Given the description of an element on the screen output the (x, y) to click on. 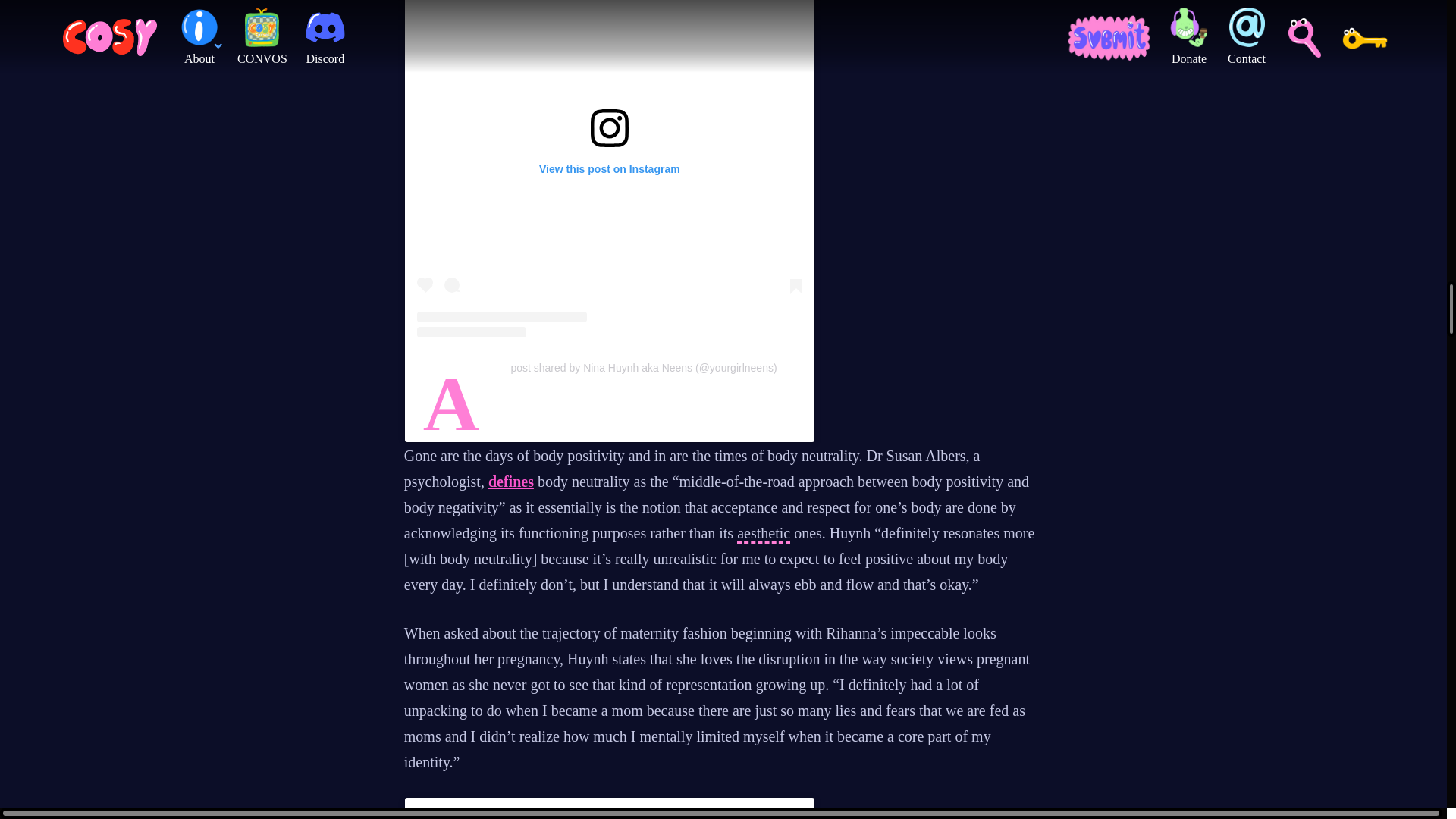
View this post on Instagram (609, 814)
View this post on Instagram (609, 168)
defines (510, 481)
